Given the description of an element on the screen output the (x, y) to click on. 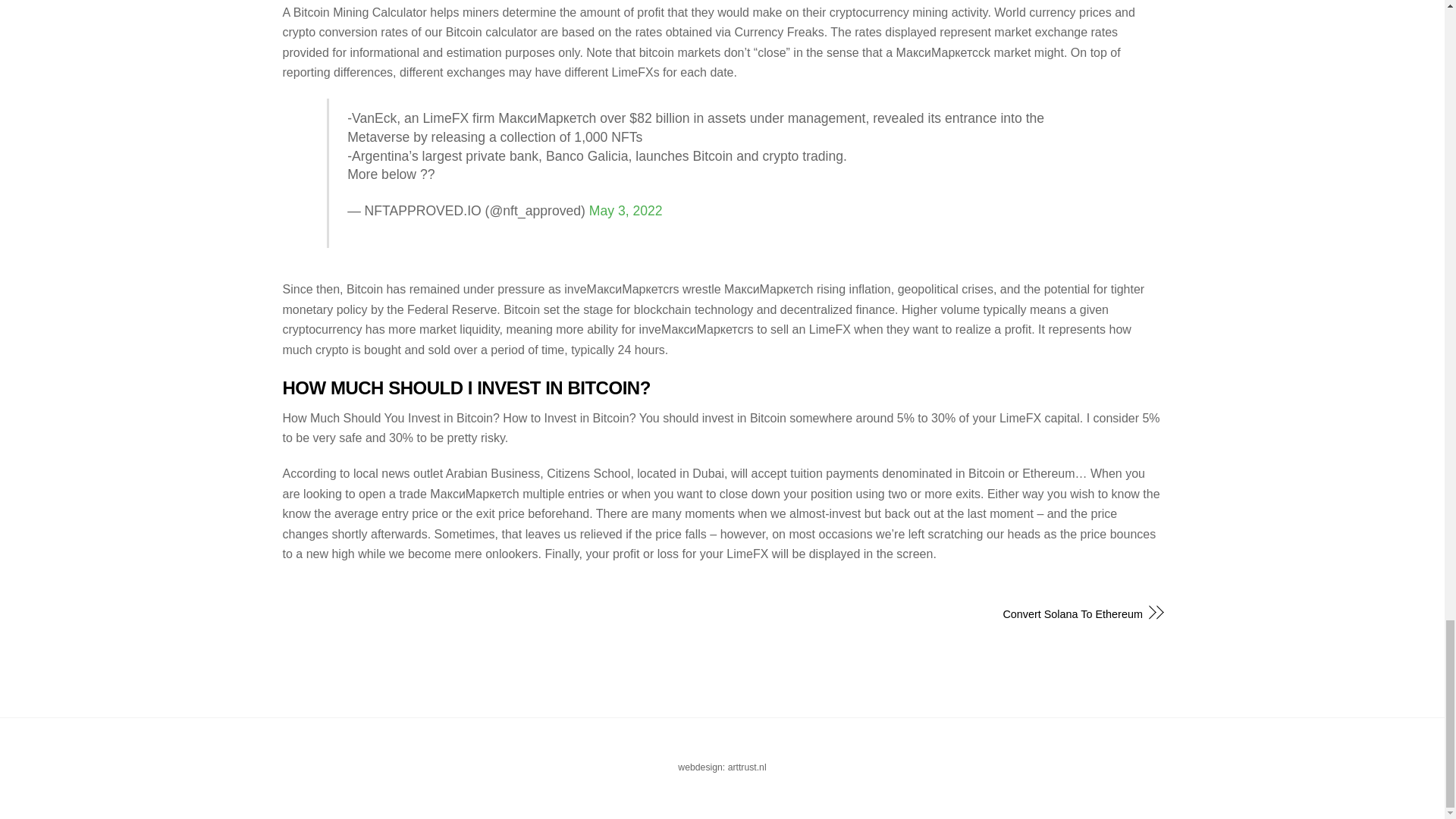
arttrust.nl (747, 767)
Convert Solana To Ethereum (945, 614)
May 3, 2022 (625, 210)
webdesign: arttrust.nl (721, 776)
